Given the description of an element on the screen output the (x, y) to click on. 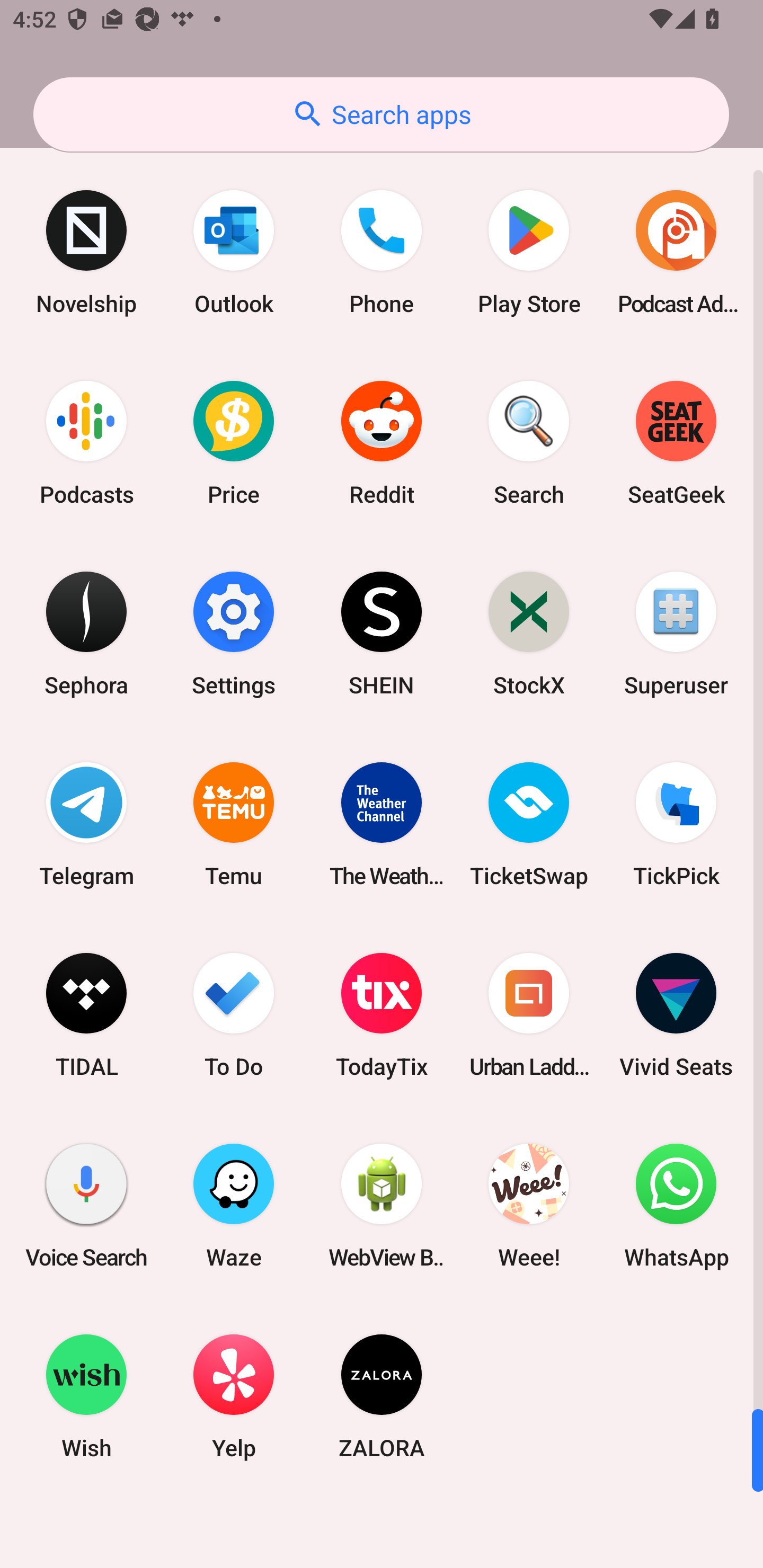
Yelp (233, 1396)
